Given the description of an element on the screen output the (x, y) to click on. 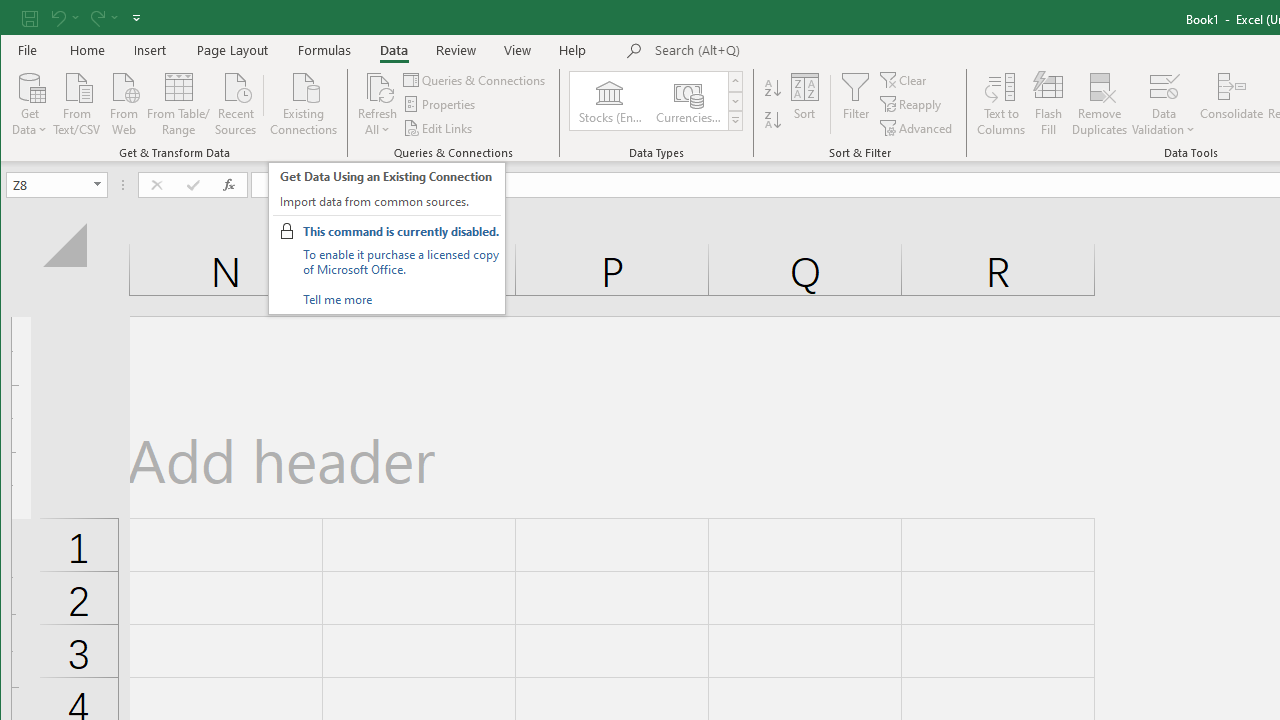
This command is currently disabled. (400, 231)
